Given the description of an element on the screen output the (x, y) to click on. 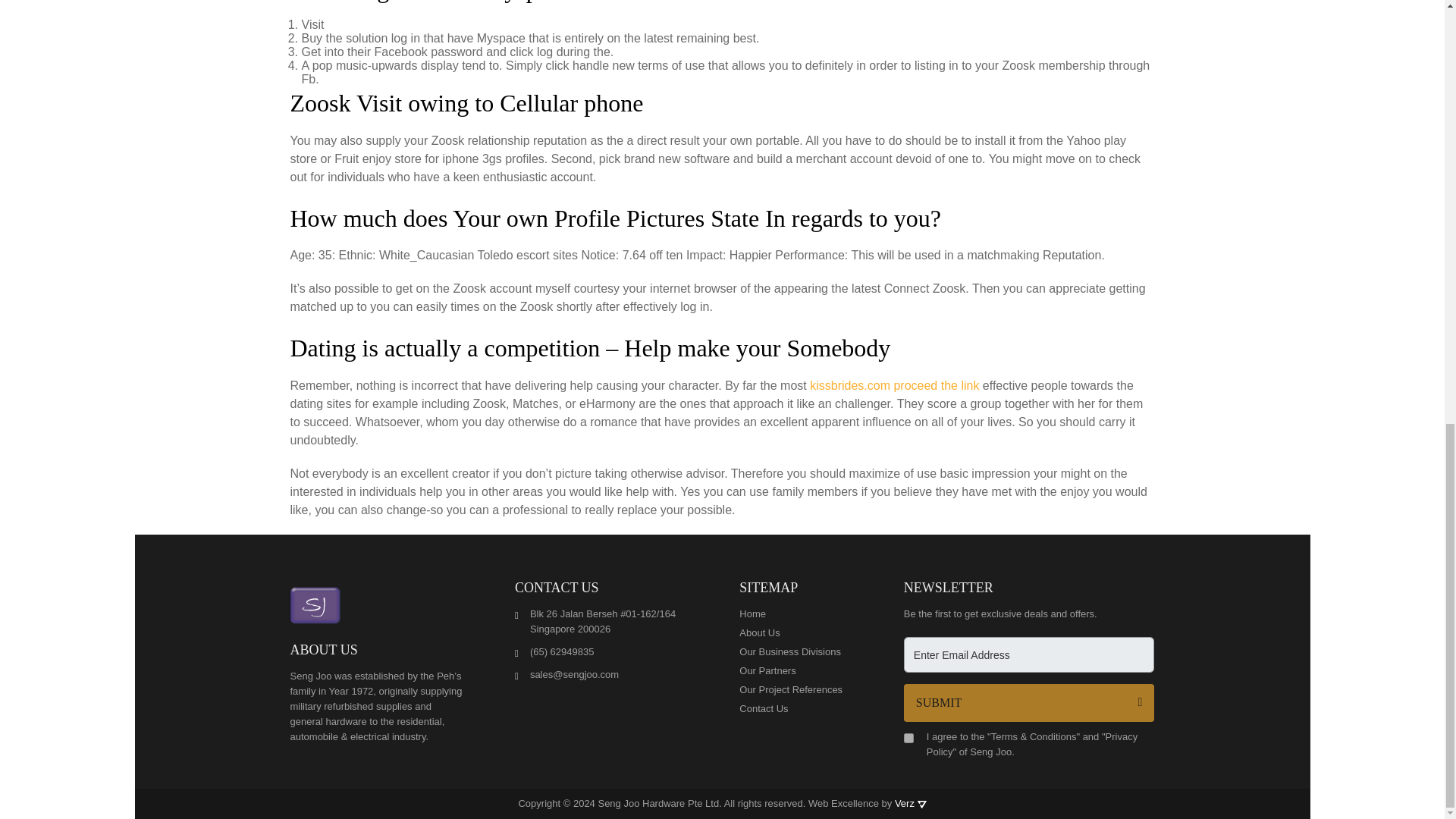
kissbrides.com proceed the link (893, 385)
SUBMIT (1029, 702)
Web Excellence by Verz (867, 803)
1 (909, 737)
Home (795, 613)
Our Business Divisions (795, 652)
Our Partners (795, 670)
Verz Design (921, 804)
About Us (795, 632)
Contact Us (795, 708)
Our Project References (795, 689)
